Given the description of an element on the screen output the (x, y) to click on. 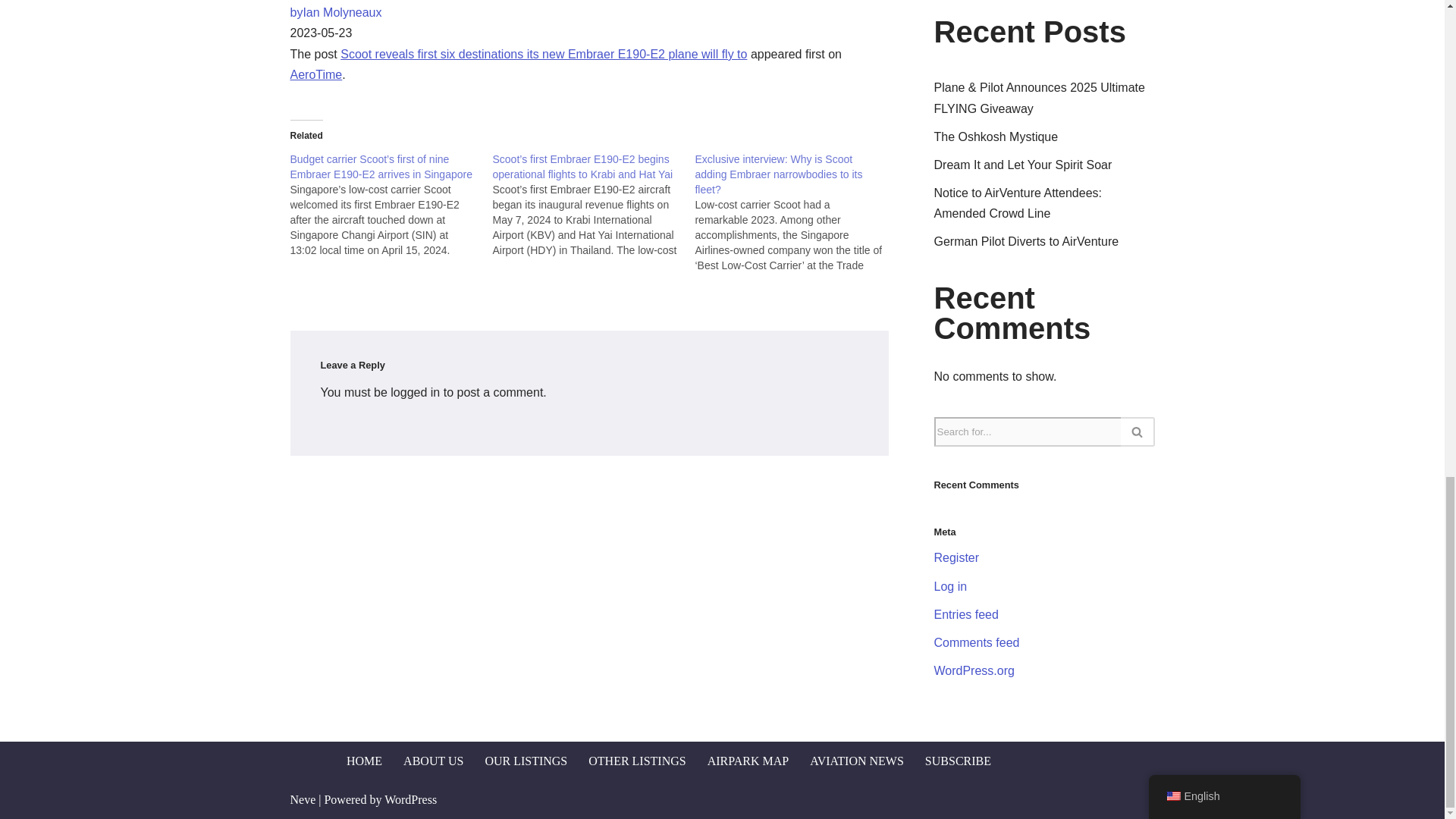
byIan Molyneaux (335, 11)
View all posts by Ian Molyneaux (335, 11)
